Given the description of an element on the screen output the (x, y) to click on. 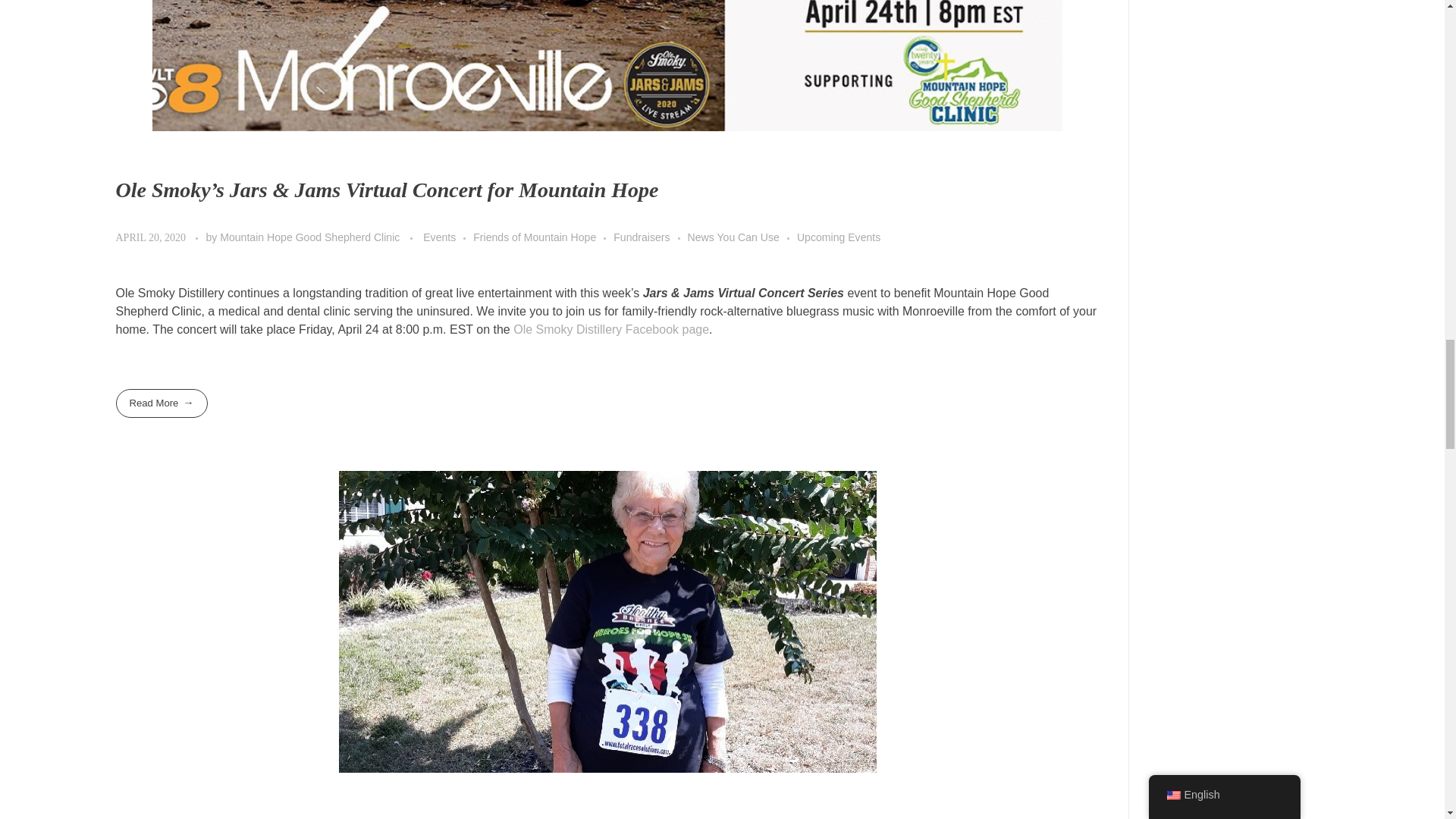
View all posts in Events (448, 237)
View all posts in Upcoming Events (838, 237)
View all posts in News You Can Use (741, 237)
View all posts by Mountain Hope Good Shepherd Clinic (311, 236)
View all posts in Friends of Mountain Hope (542, 237)
View all posts in Fundraisers (649, 237)
